Given the description of an element on the screen output the (x, y) to click on. 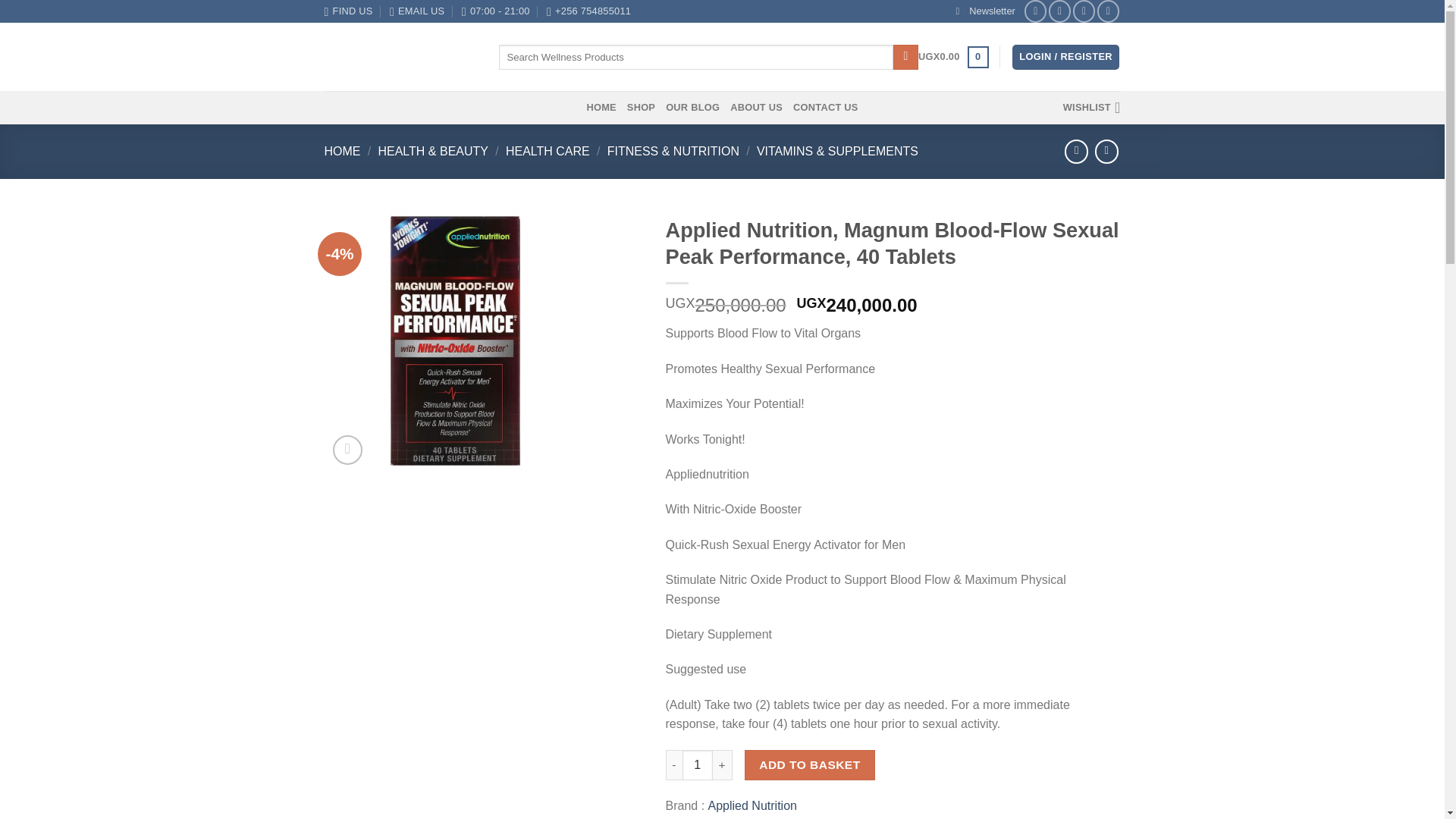
OUR BLOG (692, 107)
Search (905, 57)
CONTACT US (826, 107)
SHOP (641, 107)
ABOUT US (756, 107)
07:00 - 21:00 (495, 11)
Follow on Twitter (1083, 11)
BE THE FIRST TO GET PROMO OFFERS STRAIGHT TO YOUR INBOX (985, 11)
HOME (342, 151)
Send us an email (1108, 11)
- (673, 765)
EMAIL US (417, 11)
HEALTH CARE (547, 151)
Follow on Instagram (1059, 11)
Ndeeba Weraga Road (348, 11)
